Given the description of an element on the screen output the (x, y) to click on. 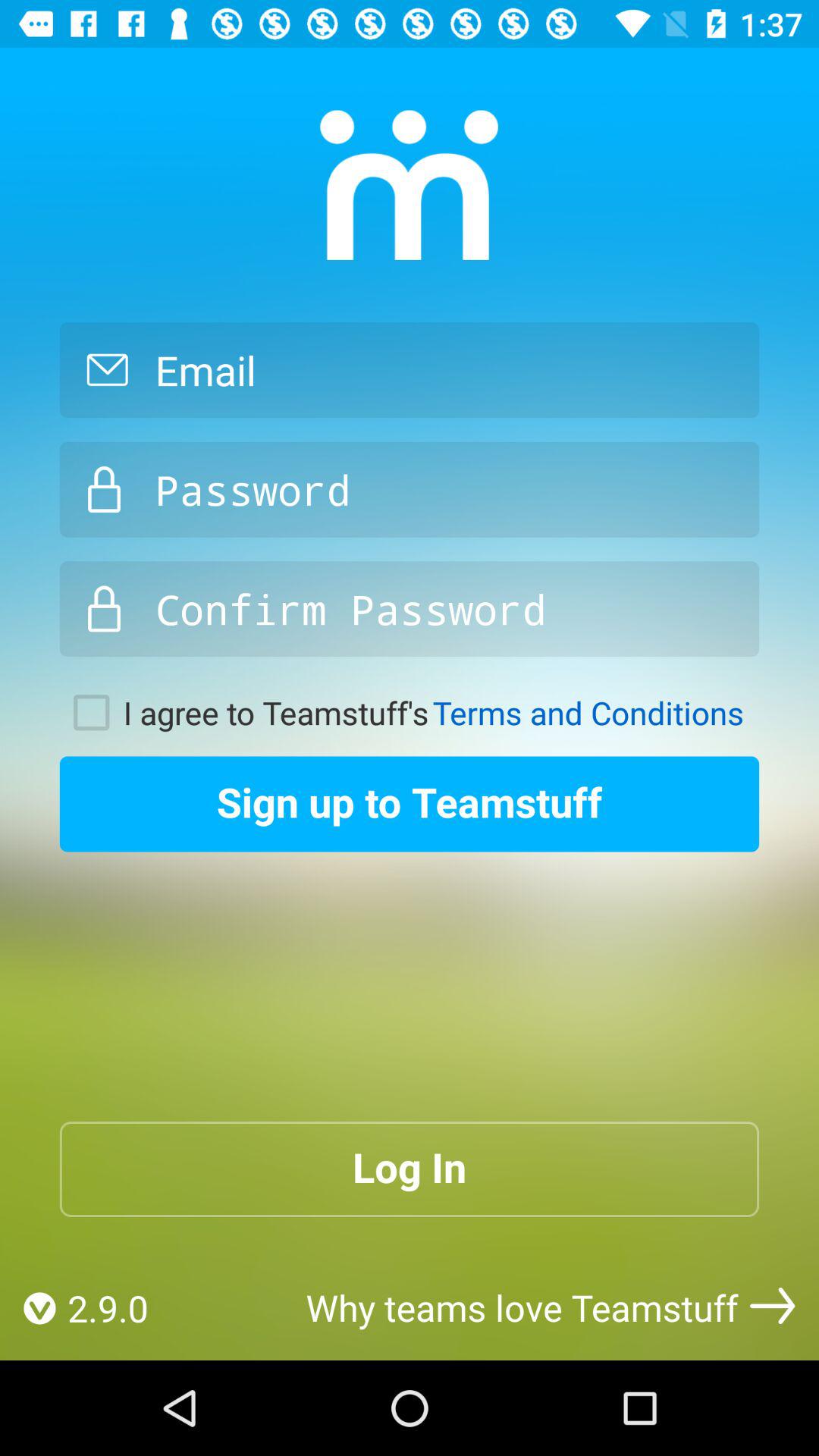
confirm password (409, 608)
